Given the description of an element on the screen output the (x, y) to click on. 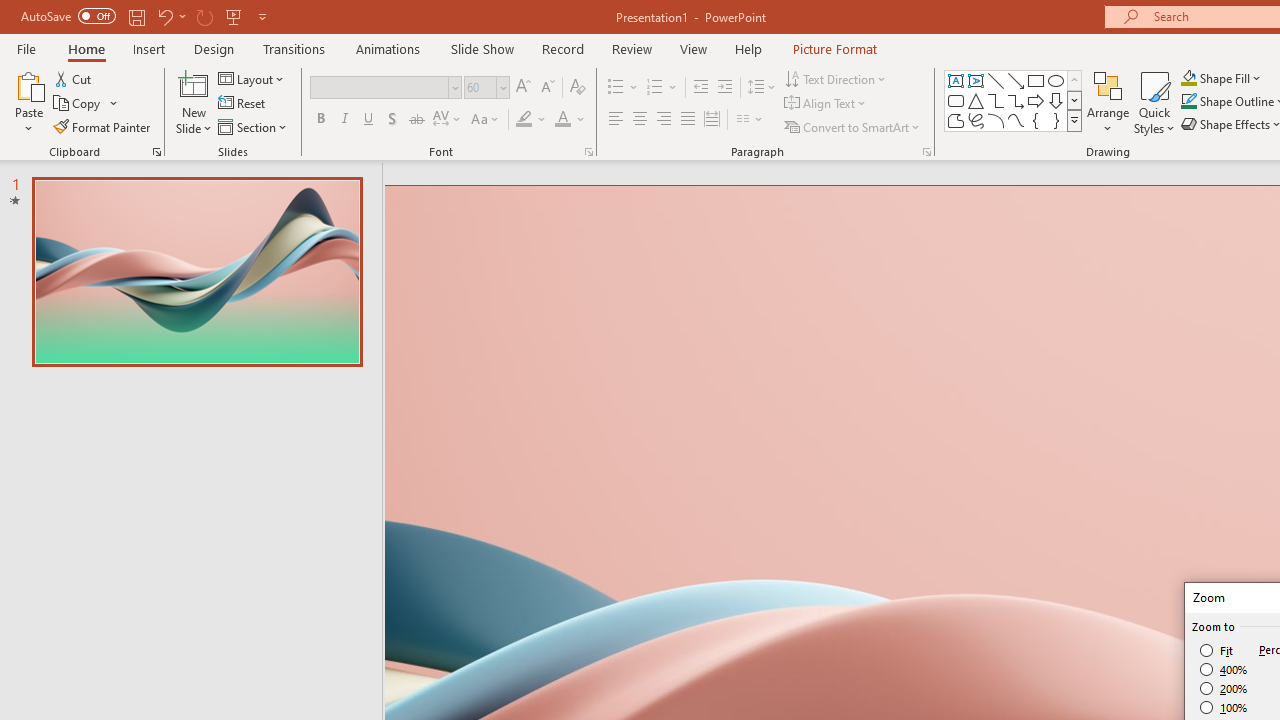
400% (1224, 669)
Picture Format (834, 48)
